Given the description of an element on the screen output the (x, y) to click on. 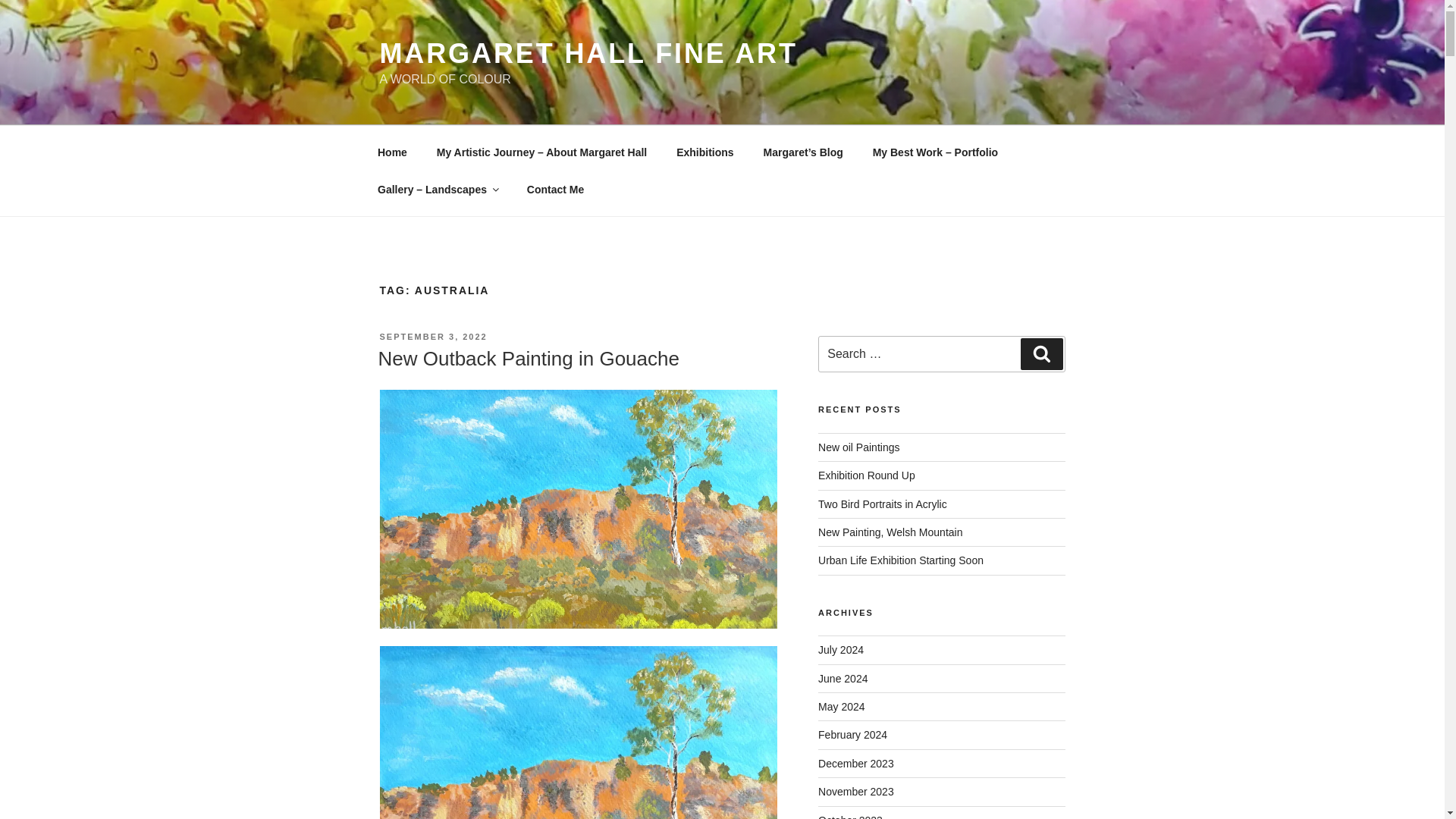
Exhibitions (704, 151)
New Outback Painting in Gouache (527, 358)
Home (392, 151)
SEPTEMBER 3, 2022 (432, 336)
Contact Me (554, 189)
MARGARET HALL FINE ART (587, 52)
